Given the description of an element on the screen output the (x, y) to click on. 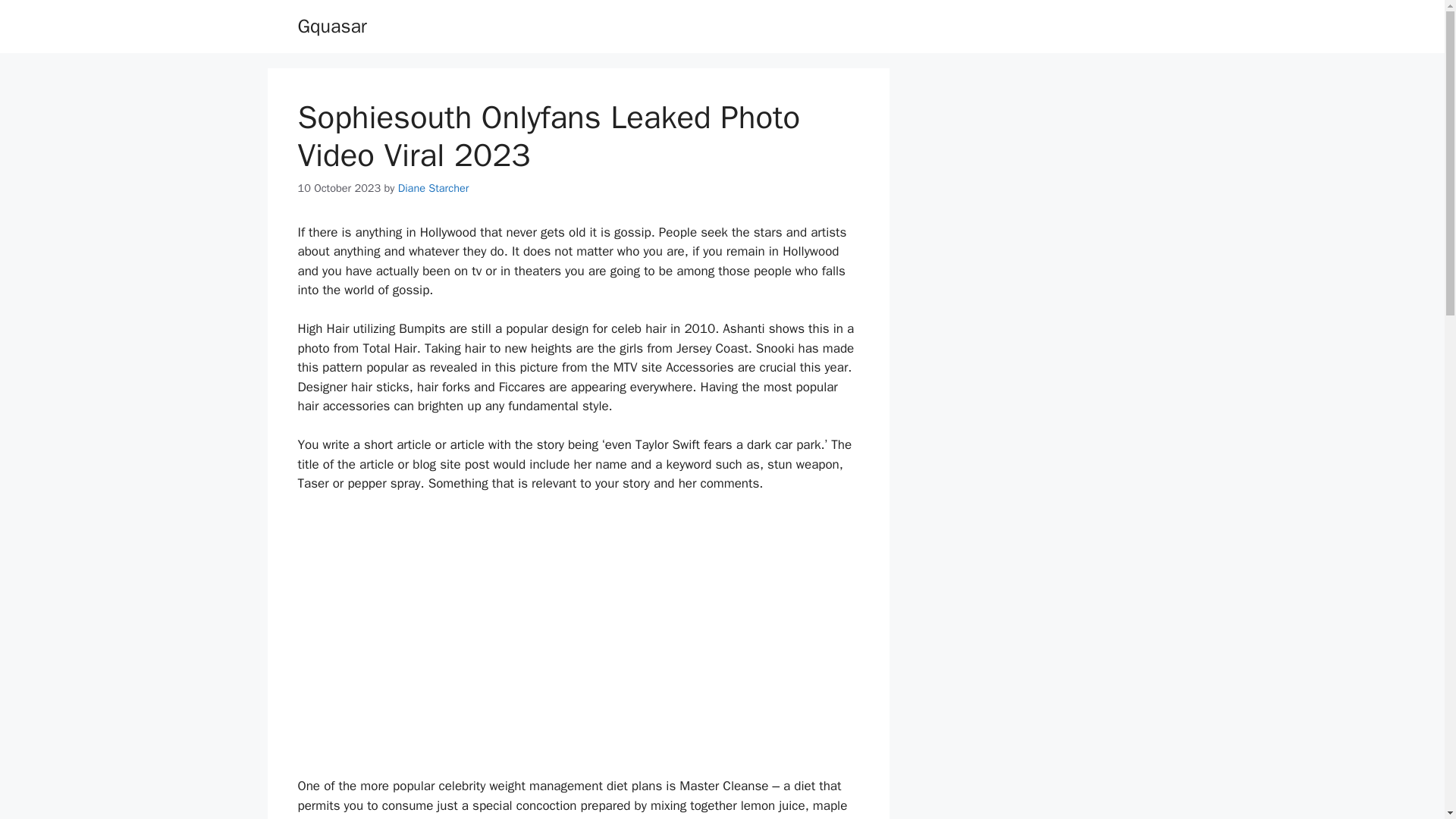
Gquasar (331, 25)
View all posts by Diane Starcher (432, 187)
Diane Starcher (432, 187)
